Given the description of an element on the screen output the (x, y) to click on. 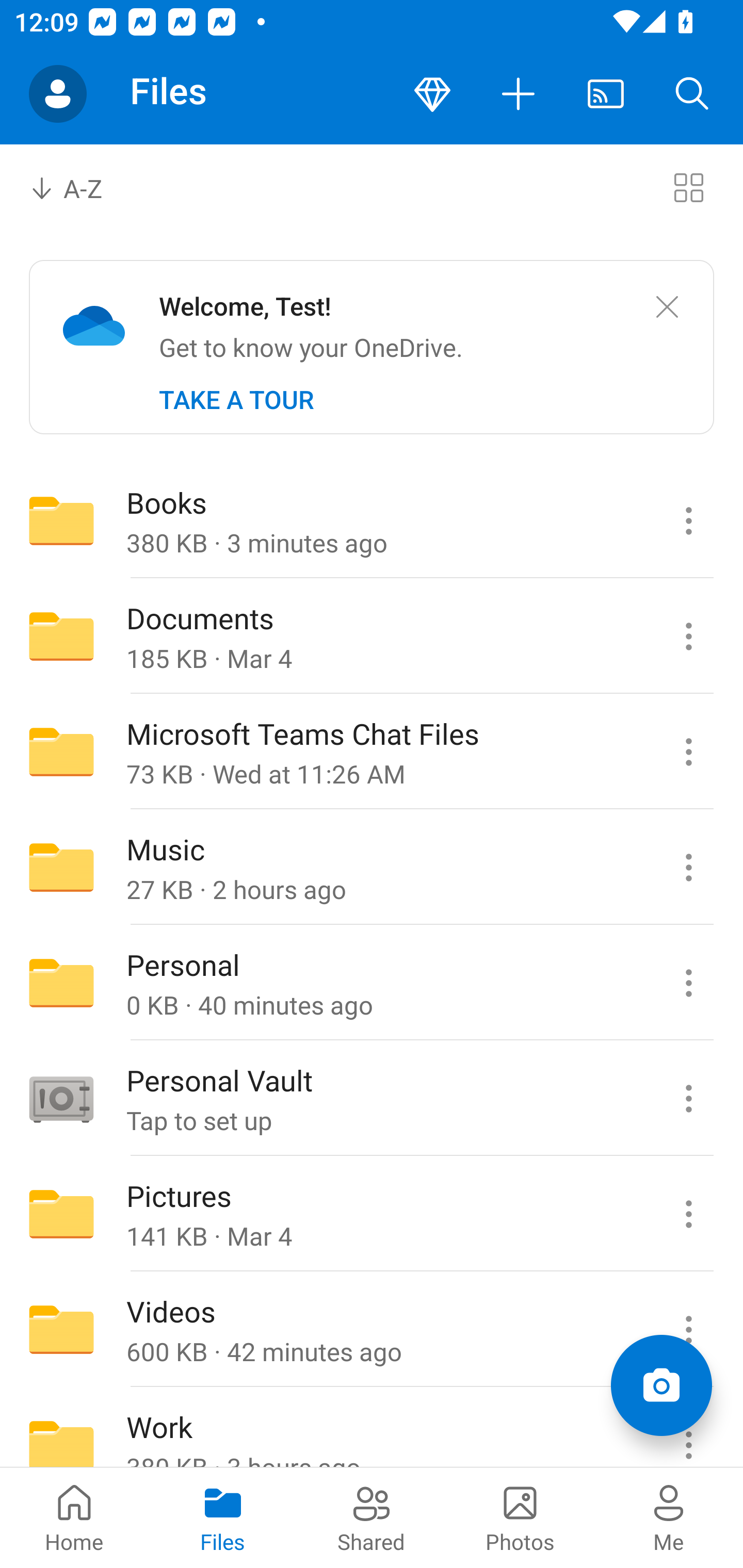
Account switcher (57, 93)
Cast. Disconnected (605, 93)
Premium button (432, 93)
More actions button (518, 93)
Search button (692, 93)
A-Z Sort by combo box, sort by name, A to Z (80, 187)
Switch to tiles view (688, 187)
Close (667, 307)
TAKE A TOUR (236, 399)
Folder Books 380 KB · 3 minutes ago Books commands (371, 520)
Books commands (688, 520)
Folder Documents 185 KB · Mar 4 Documents commands (371, 636)
Documents commands (688, 636)
Microsoft Teams Chat Files commands (688, 751)
Folder Music 27 KB · 2 hours ago Music commands (371, 867)
Music commands (688, 867)
Personal commands (688, 983)
Personal Vault commands (688, 1099)
Folder Pictures 141 KB · Mar 4 Pictures commands (371, 1214)
Pictures commands (688, 1214)
Videos commands (688, 1329)
Add items Scan (660, 1385)
Folder Work 380 KB · 3 hours ago Work commands (371, 1427)
Work commands (688, 1427)
Home pivot Home (74, 1517)
Shared pivot Shared (371, 1517)
Photos pivot Photos (519, 1517)
Me pivot Me (668, 1517)
